Given the description of an element on the screen output the (x, y) to click on. 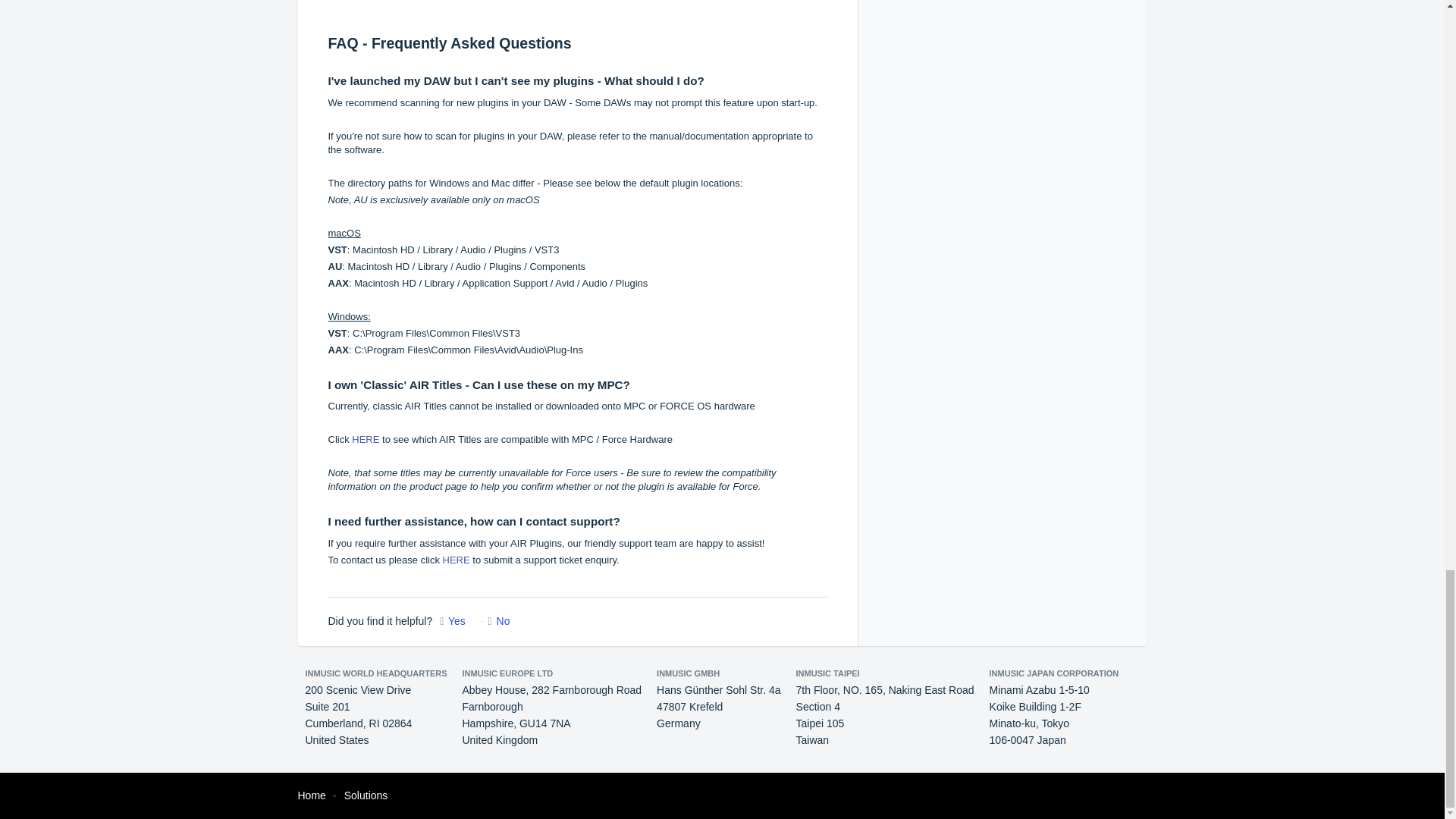
HERE (456, 559)
Home (310, 795)
Solutions (365, 795)
HERE (365, 439)
